Given the description of an element on the screen output the (x, y) to click on. 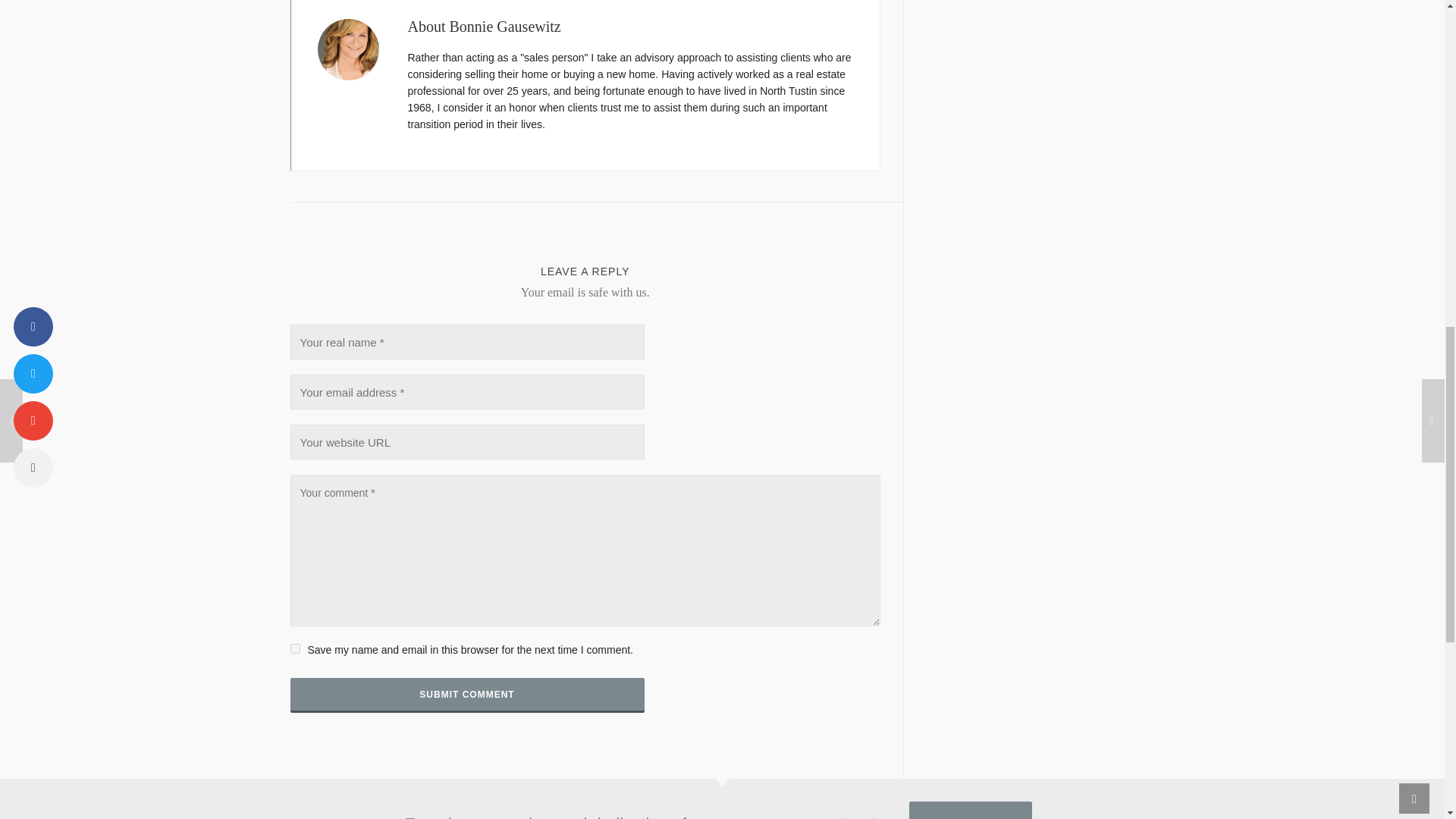
Submit Comment (466, 694)
Submit Comment (466, 694)
CONTACT ME (970, 810)
yes (294, 648)
